Given the description of an element on the screen output the (x, y) to click on. 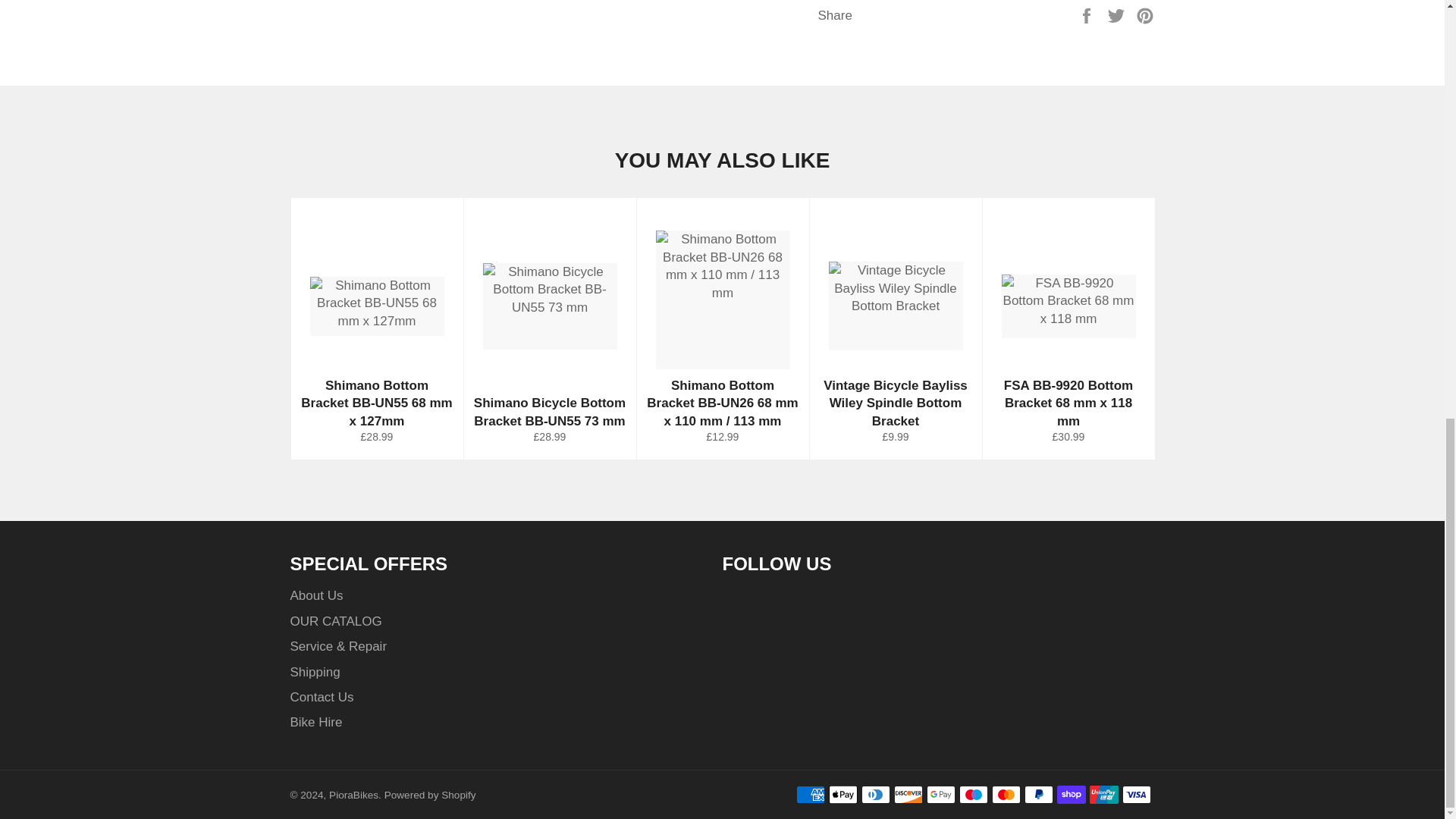
Share on Facebook (1088, 14)
Tweet on Twitter (1117, 14)
Pin on Pinterest (1144, 14)
